Given the description of an element on the screen output the (x, y) to click on. 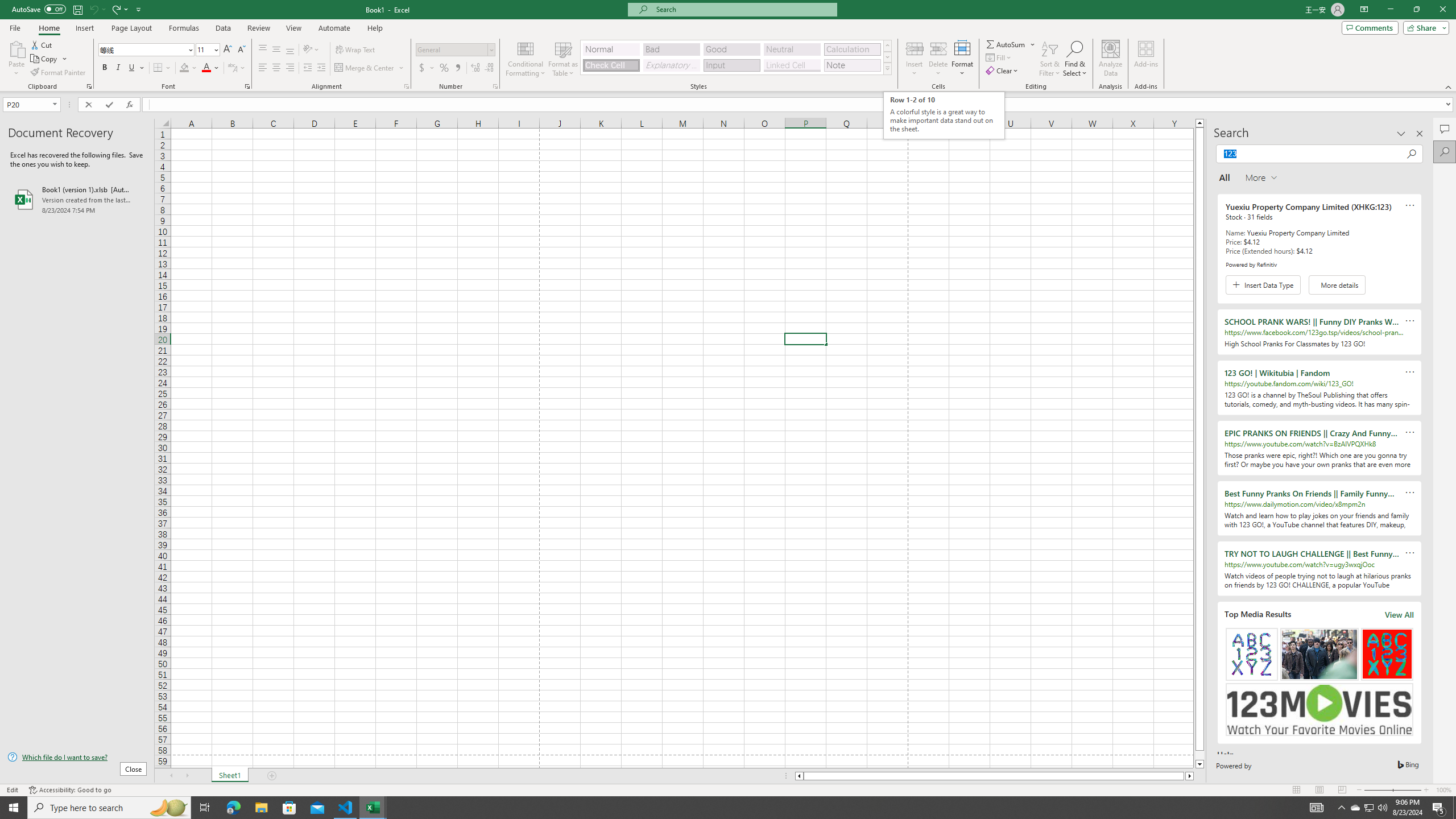
Fill Color (188, 67)
Align Left (262, 67)
Merge & Center (369, 67)
Delete (938, 58)
Align Right (290, 67)
Linked Cell (791, 65)
Calculation (852, 49)
Font Color (210, 67)
Fill (999, 56)
